Given the description of an element on the screen output the (x, y) to click on. 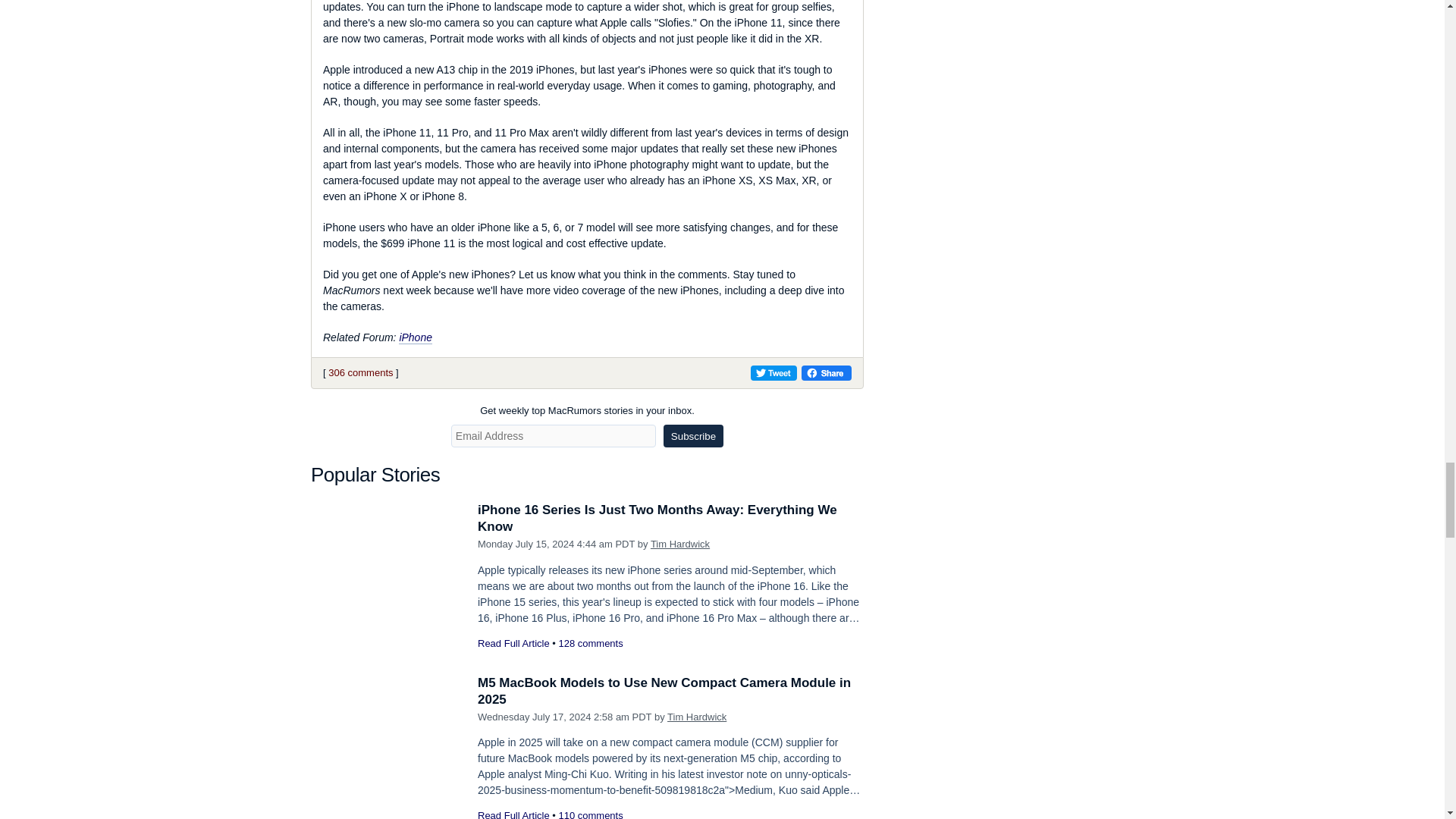
Subscribe (693, 436)
